Given the description of an element on the screen output the (x, y) to click on. 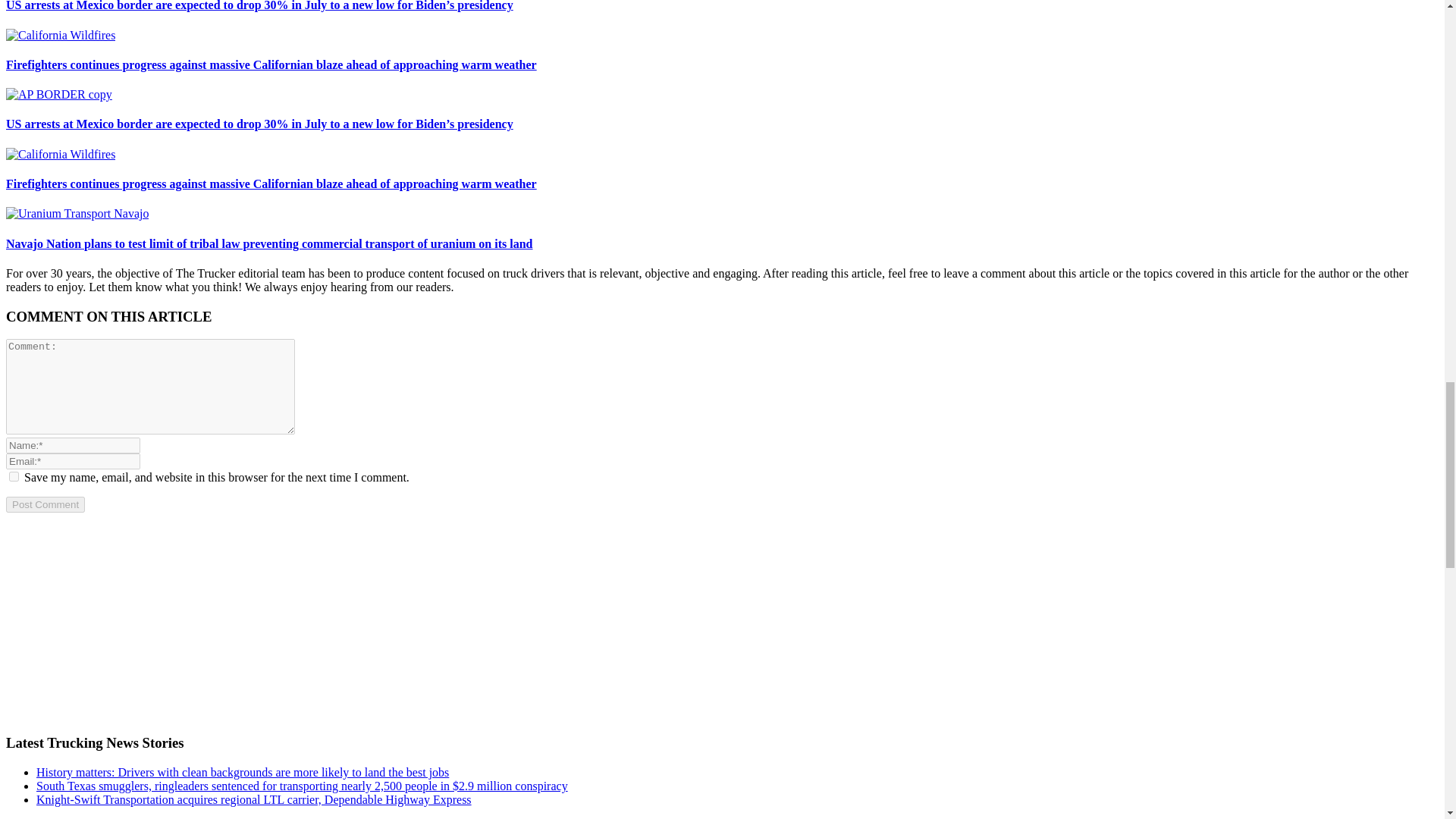
yes (13, 476)
Post Comment (44, 504)
